Given the description of an element on the screen output the (x, y) to click on. 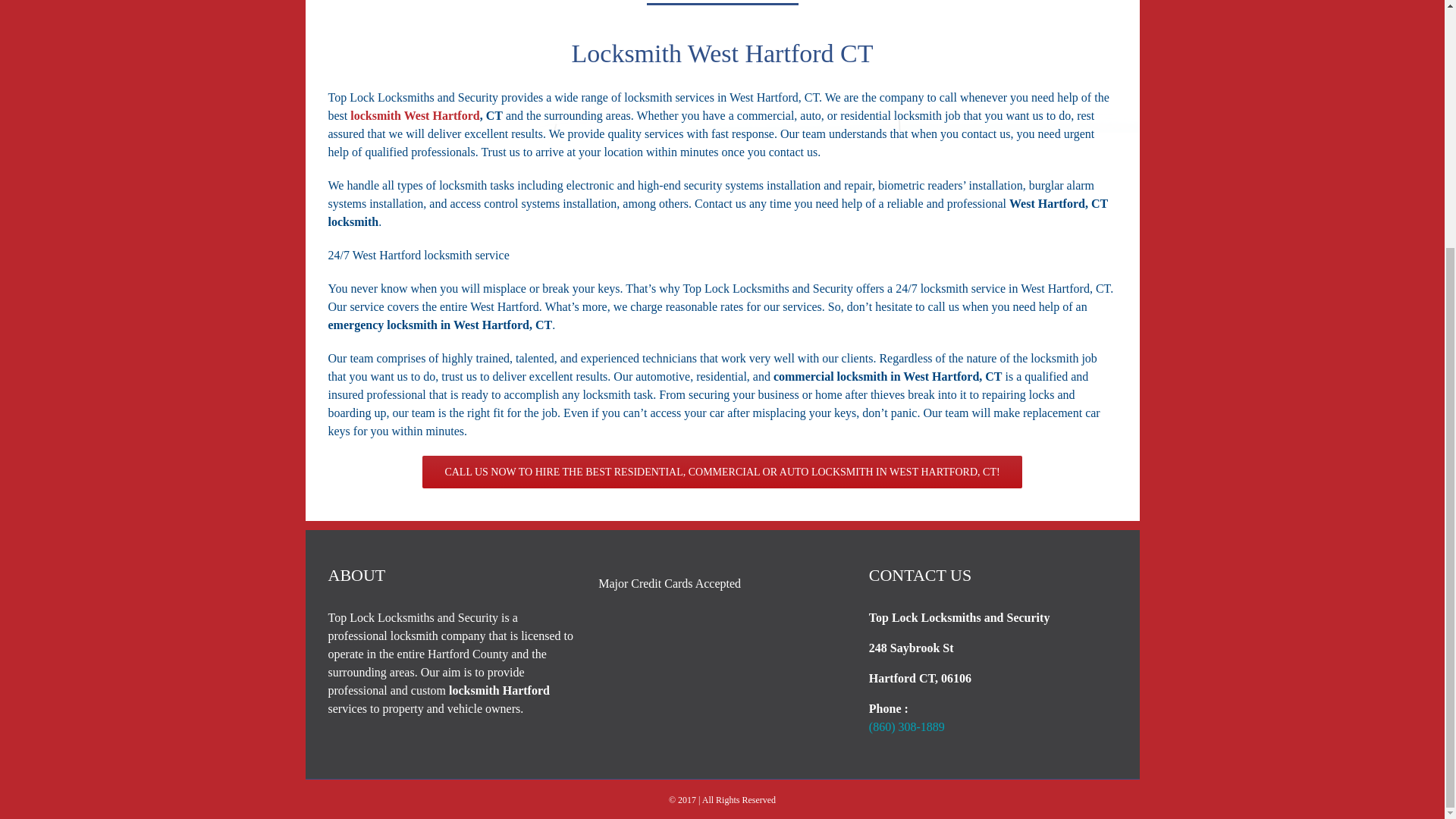
locksmith West Hartford (414, 115)
